Given the description of an element on the screen output the (x, y) to click on. 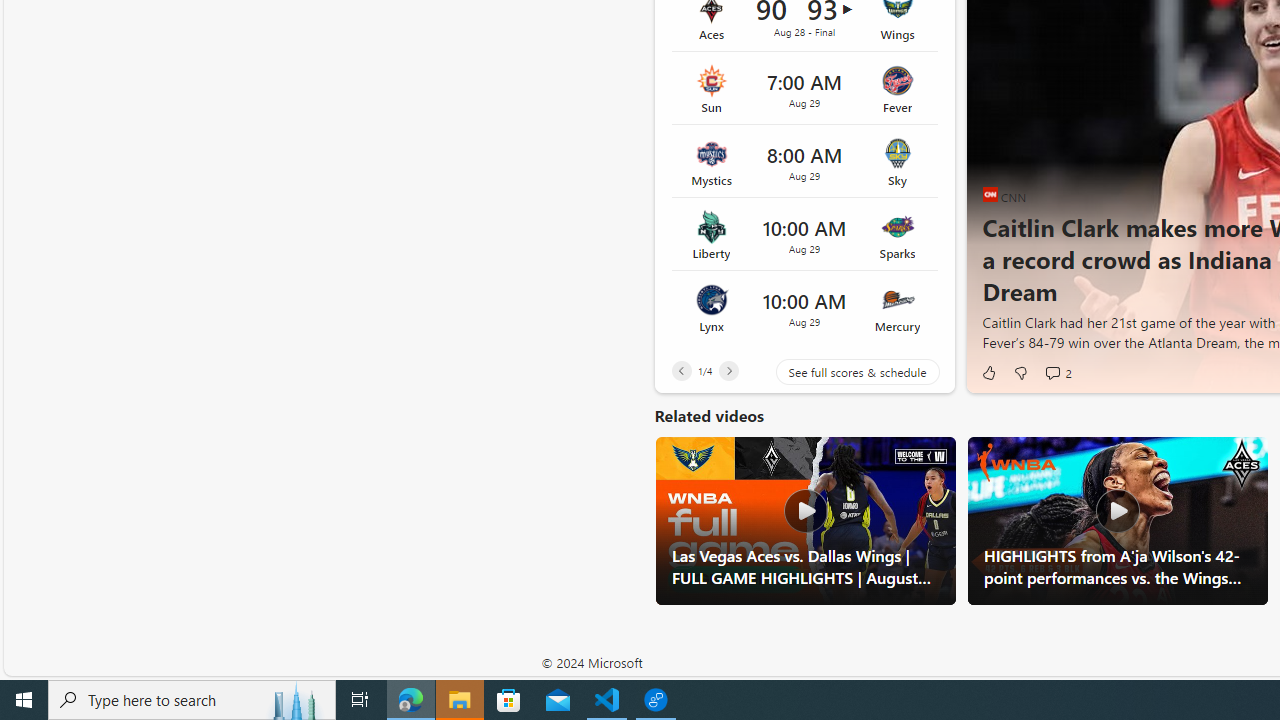
Previous (681, 370)
previous (992, 161)
